Given the description of an element on the screen output the (x, y) to click on. 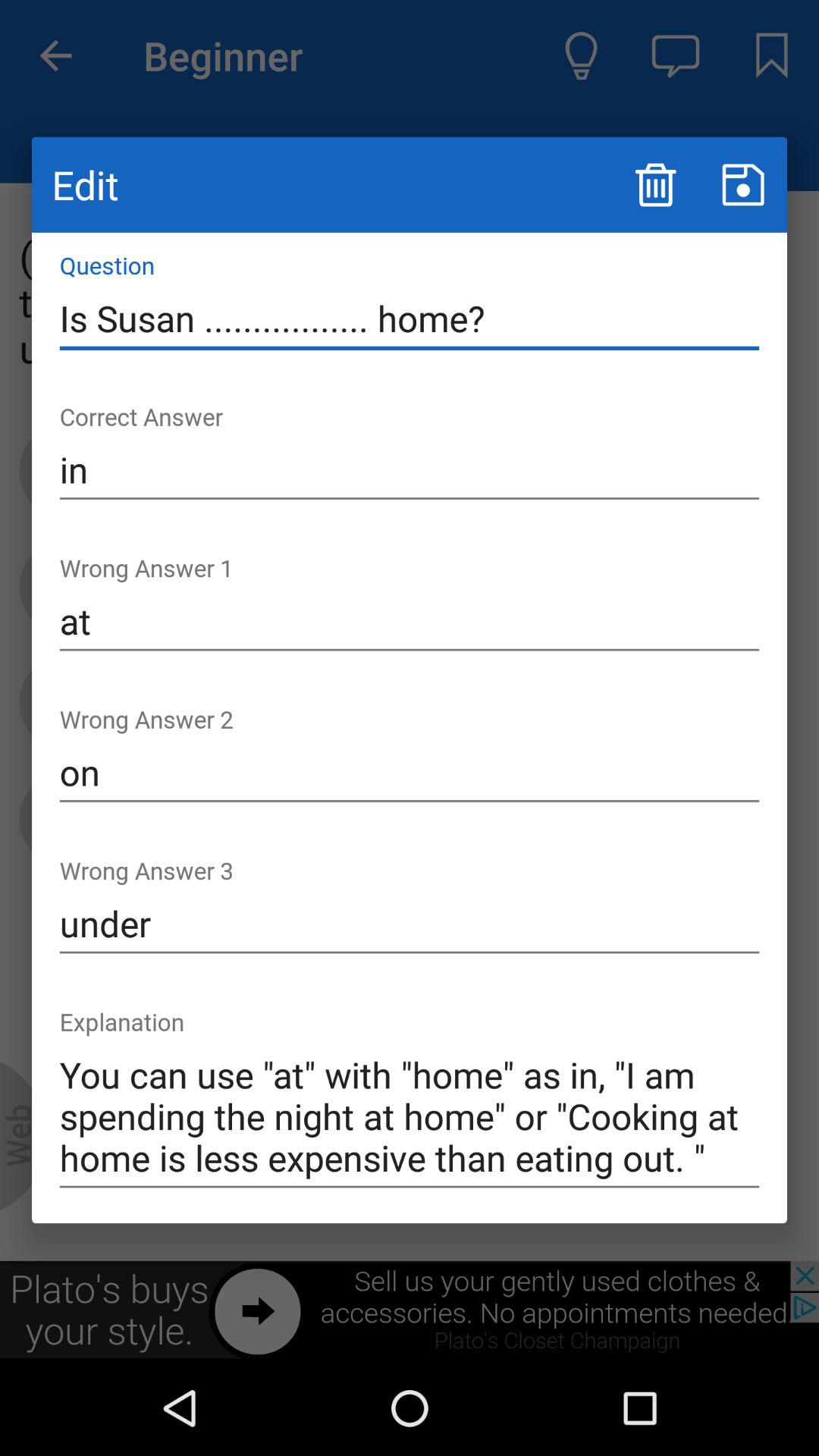
tap the icon below edit icon (409, 319)
